Given the description of an element on the screen output the (x, y) to click on. 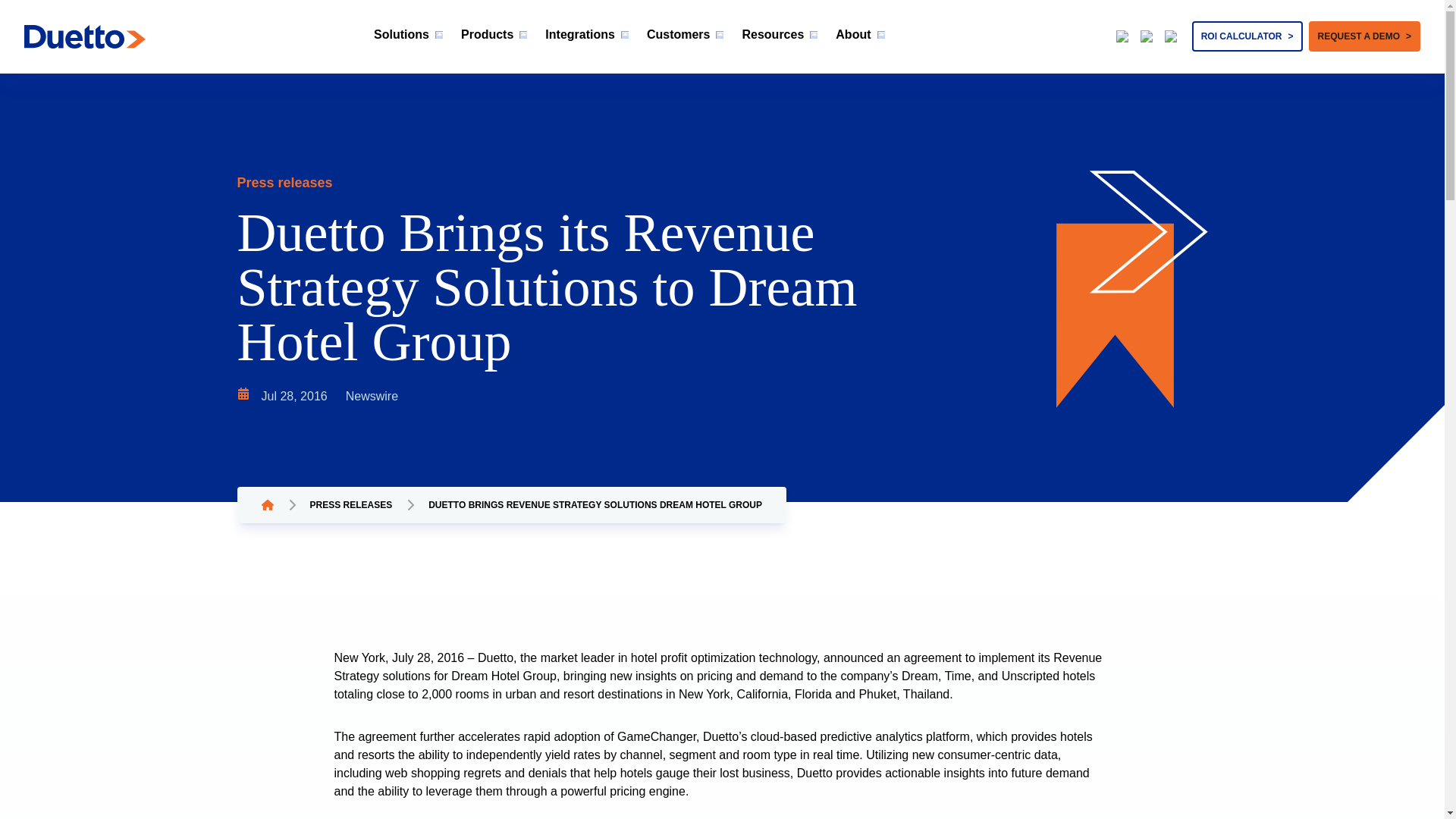
Customers (684, 35)
Products (629, 36)
Integrations (494, 35)
Duetto Logo (586, 35)
Solutions (84, 36)
